Given the description of an element on the screen output the (x, y) to click on. 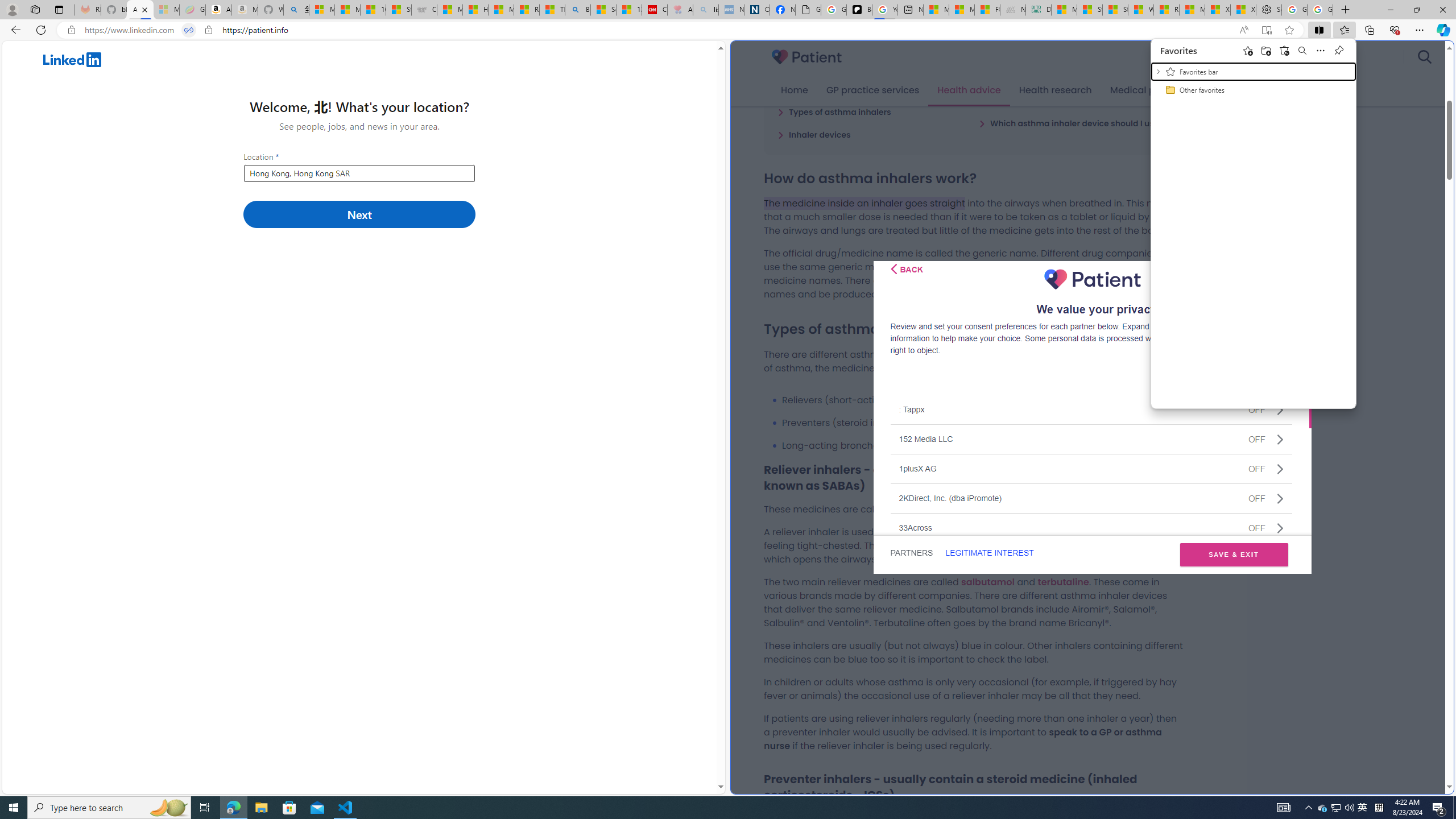
R******* | Trusted Community Engagement and Contributions (1165, 9)
LEGITIMATE INTEREST (988, 552)
How do asthma inhalers work? (844, 88)
GP practice services (872, 90)
GP practice services (872, 90)
